Given the description of an element on the screen output the (x, y) to click on. 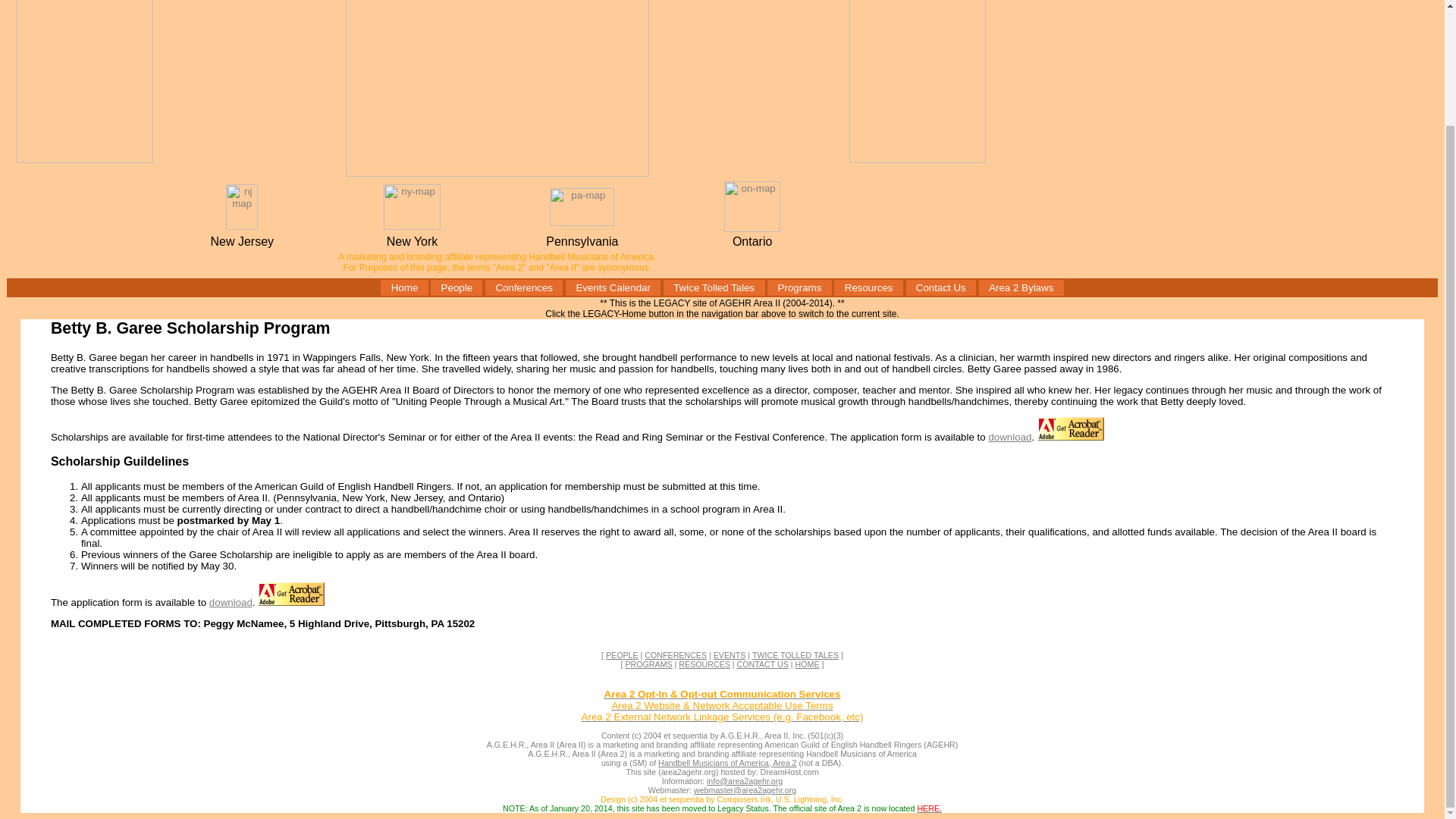
pa-map (582, 221)
Programs (799, 287)
EVENTS (729, 655)
RESOURCES (704, 664)
CONTACT US (762, 664)
People (455, 287)
Area 2 Bylaws (1021, 287)
HOME (806, 664)
Contact Us (940, 287)
Events Calendar (613, 287)
